Given the description of an element on the screen output the (x, y) to click on. 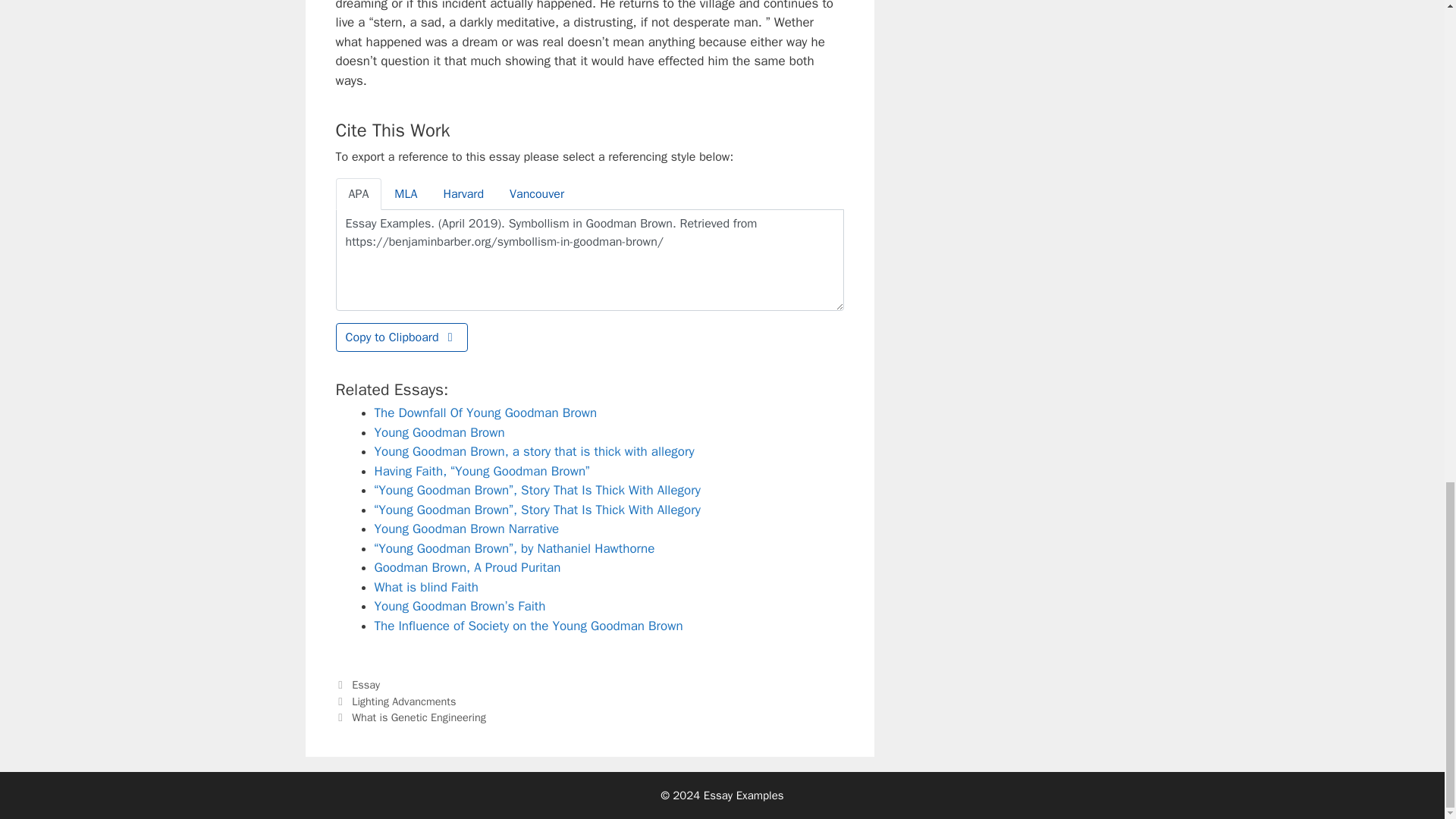
Young Goodman Brown (439, 432)
The Downfall Of Young Goodman Brown (485, 412)
What is blind Faith (426, 587)
Lighting Advancments (403, 701)
Goodman Brown, A Proud Puritan (467, 567)
The Downfall Of Young Goodman Brown (485, 412)
Harvard (462, 193)
MLA (405, 193)
Young Goodman Brown, a story that is thick with allegory (534, 451)
Essay (366, 684)
Young Goodman Brown (439, 432)
Vancouver (536, 193)
The Influence of Society on the Young Goodman Brown (528, 625)
Young Goodman Brown, a story that is thick with allegory (534, 451)
Young Goodman Brown Narrative (466, 528)
